Given the description of an element on the screen output the (x, y) to click on. 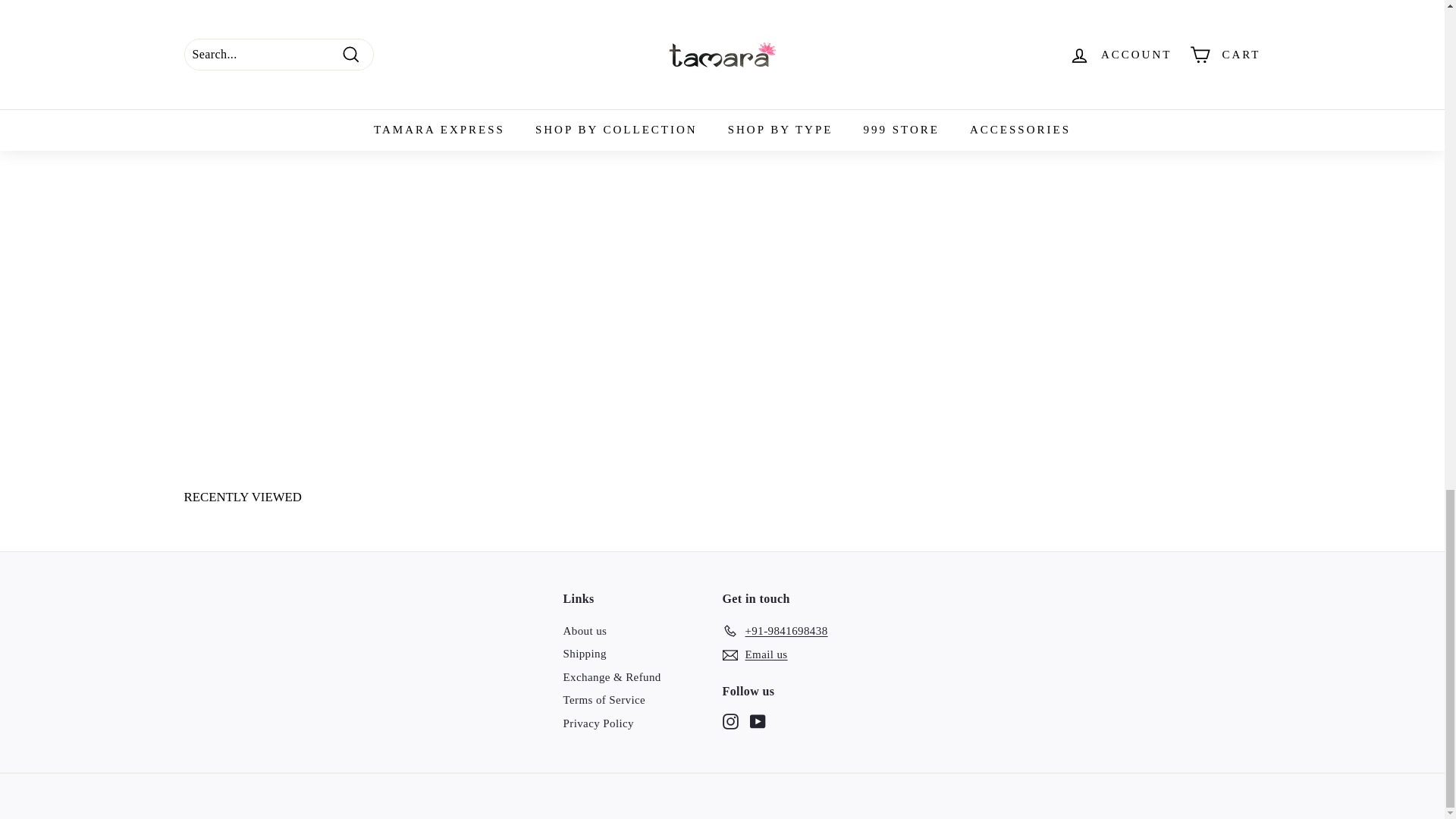
Tamara on Instagram (730, 720)
Tamara on YouTube (757, 720)
